Given the description of an element on the screen output the (x, y) to click on. 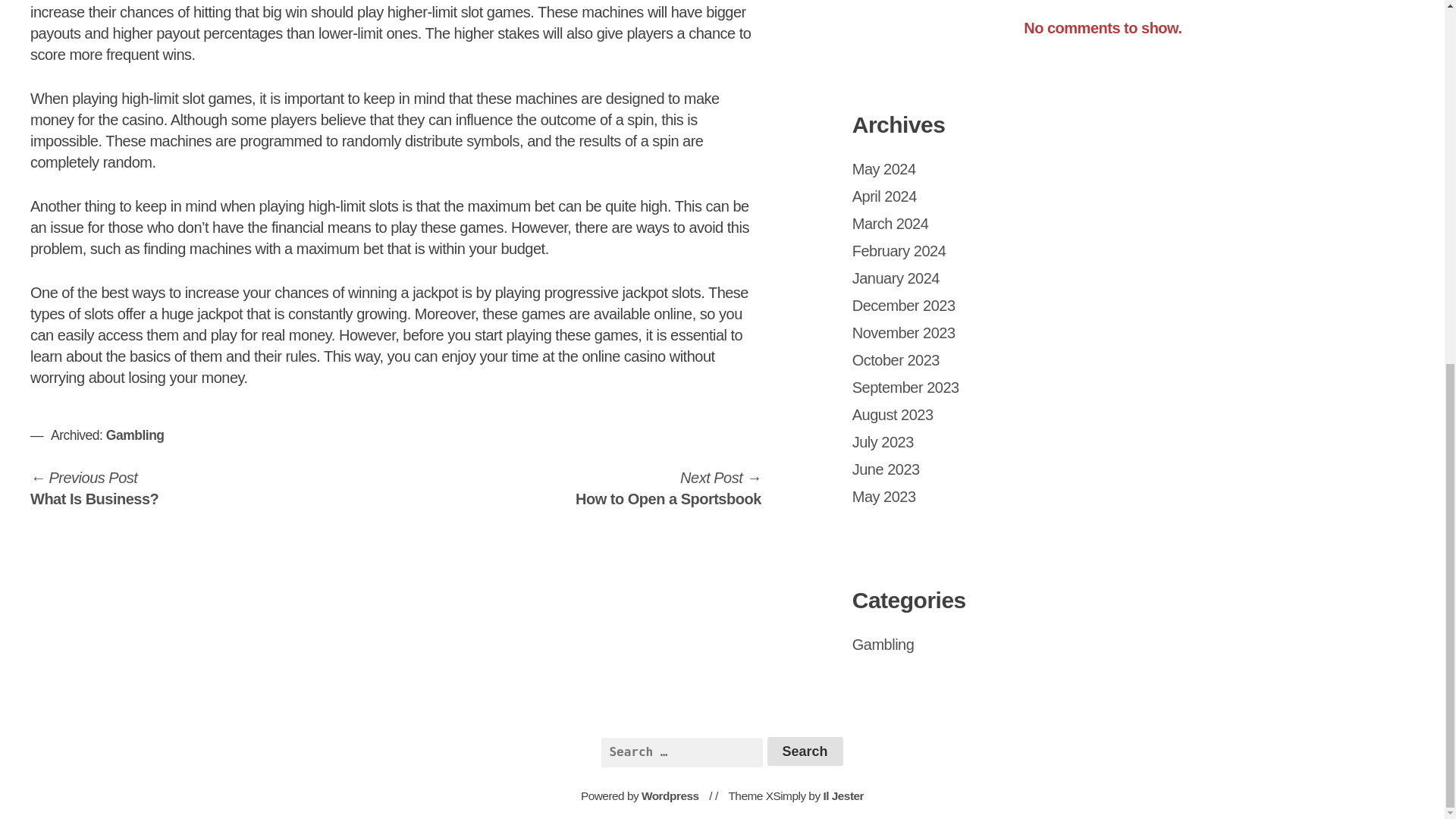
January 2024 (895, 278)
Il Jester (842, 795)
Search (668, 487)
Gambling (805, 751)
May 2023 (94, 487)
September 2023 (882, 644)
Wordpress (883, 496)
March 2024 (905, 387)
Gambling (670, 795)
Search (889, 223)
May 2024 (135, 435)
December 2023 (805, 751)
February 2024 (883, 168)
